Given the description of an element on the screen output the (x, y) to click on. 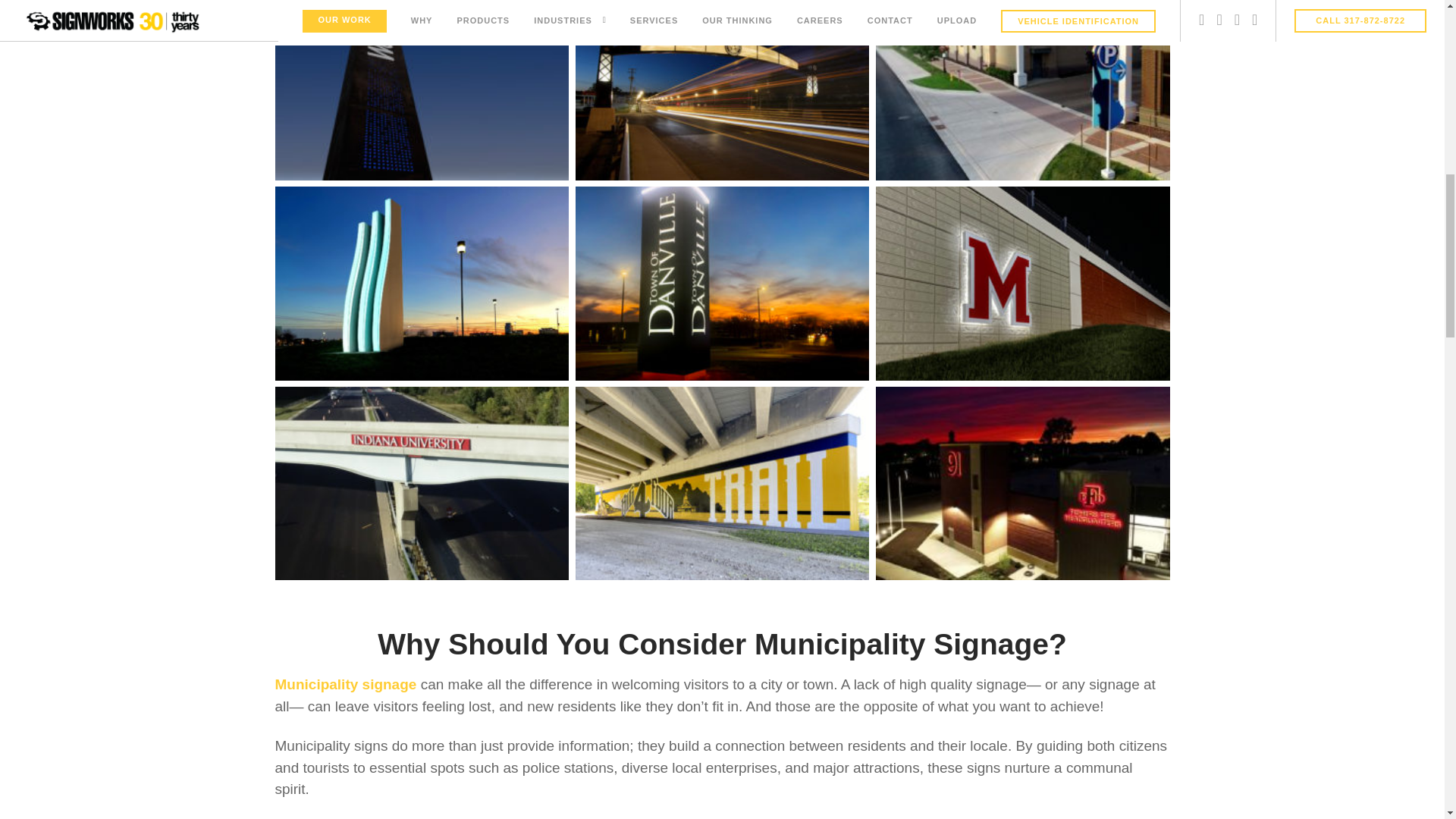
Municipality signage (345, 684)
